Given the description of an element on the screen output the (x, y) to click on. 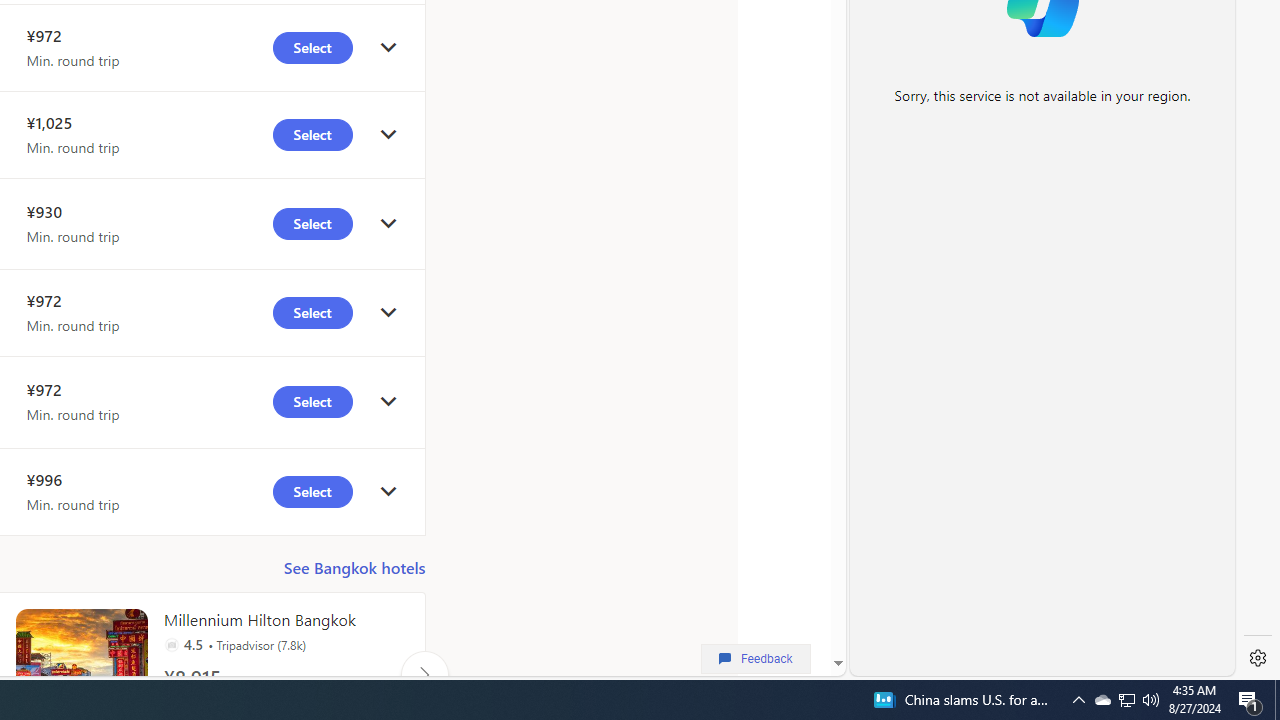
Tripadvisor (171, 644)
click to get details (388, 491)
Click to scroll right (424, 674)
